Given the description of an element on the screen output the (x, y) to click on. 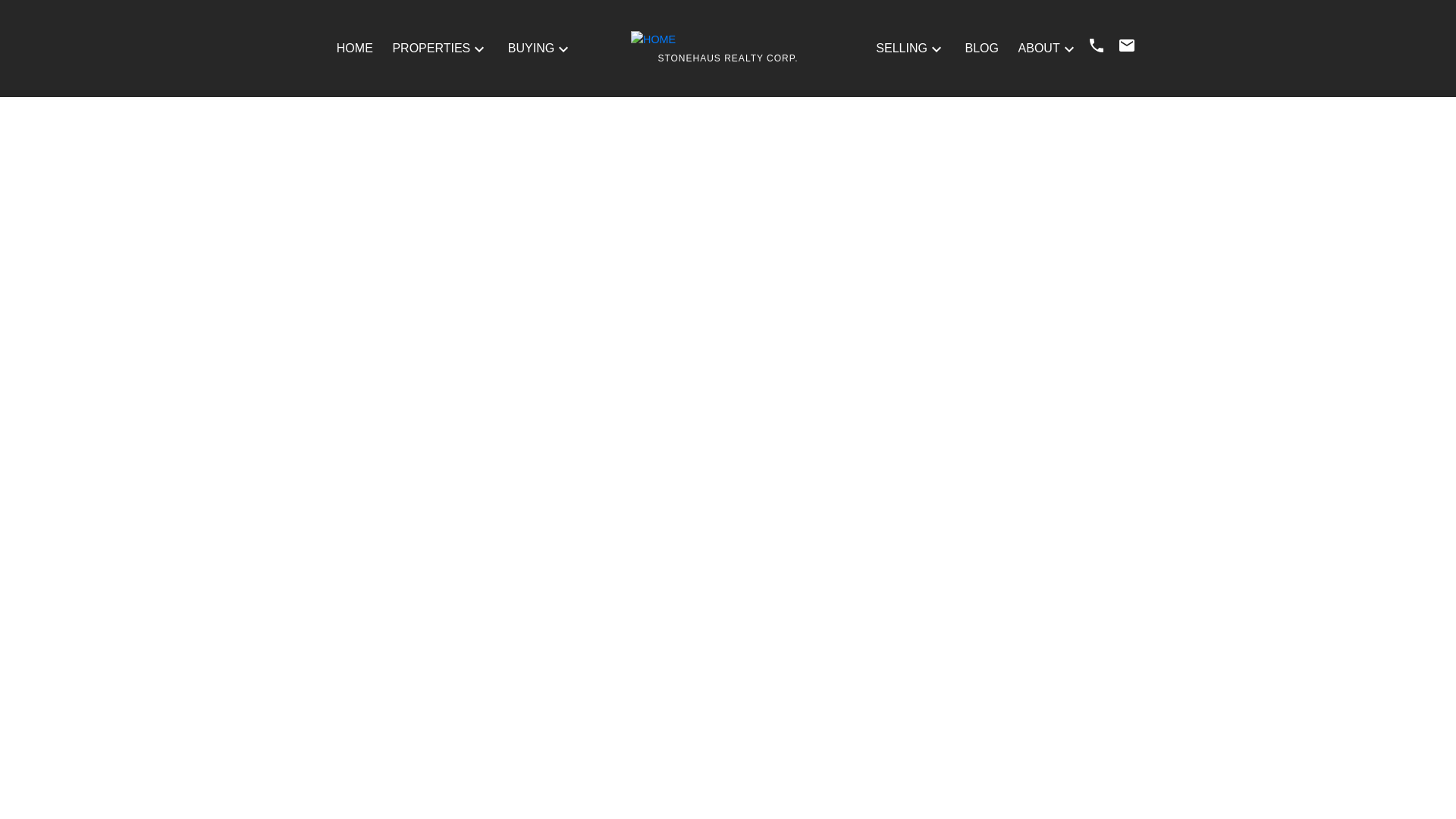
BUYING (531, 48)
SELLING (901, 48)
BLOG (980, 48)
HOME (354, 48)
PROPERTIES (430, 48)
ABOUT (1038, 48)
